Given the description of an element on the screen output the (x, y) to click on. 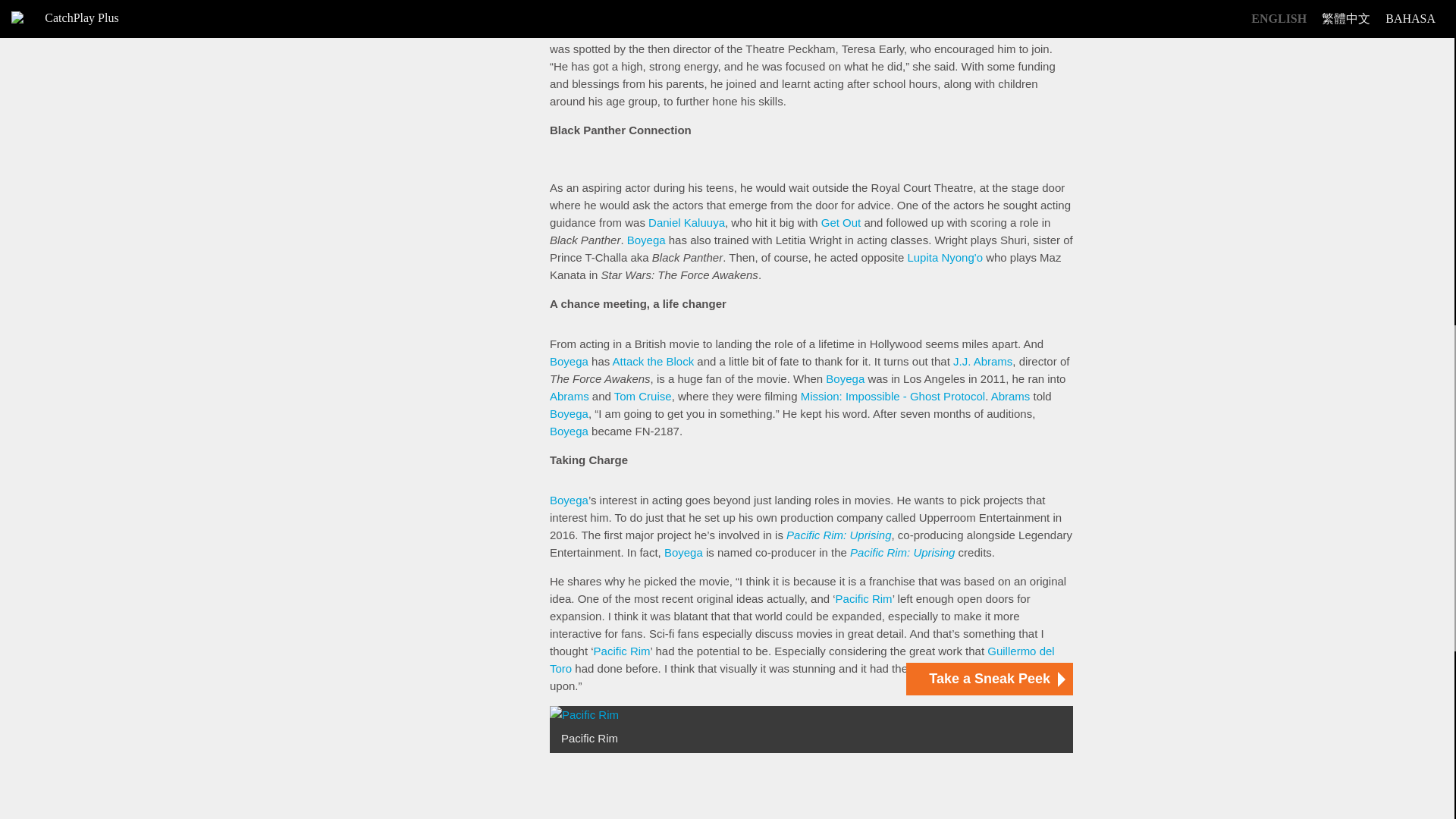
Lupita Nyong'o (944, 256)
Pacific Rim: Uprising (838, 534)
Boyega (569, 31)
Pacific Rim (863, 598)
Mission: Impossible - Ghost Protocol (892, 395)
Tom Cruise (642, 395)
Boyega (569, 360)
Get Out (841, 222)
J.J. Abrams (982, 360)
Boyega (844, 378)
